Given the description of an element on the screen output the (x, y) to click on. 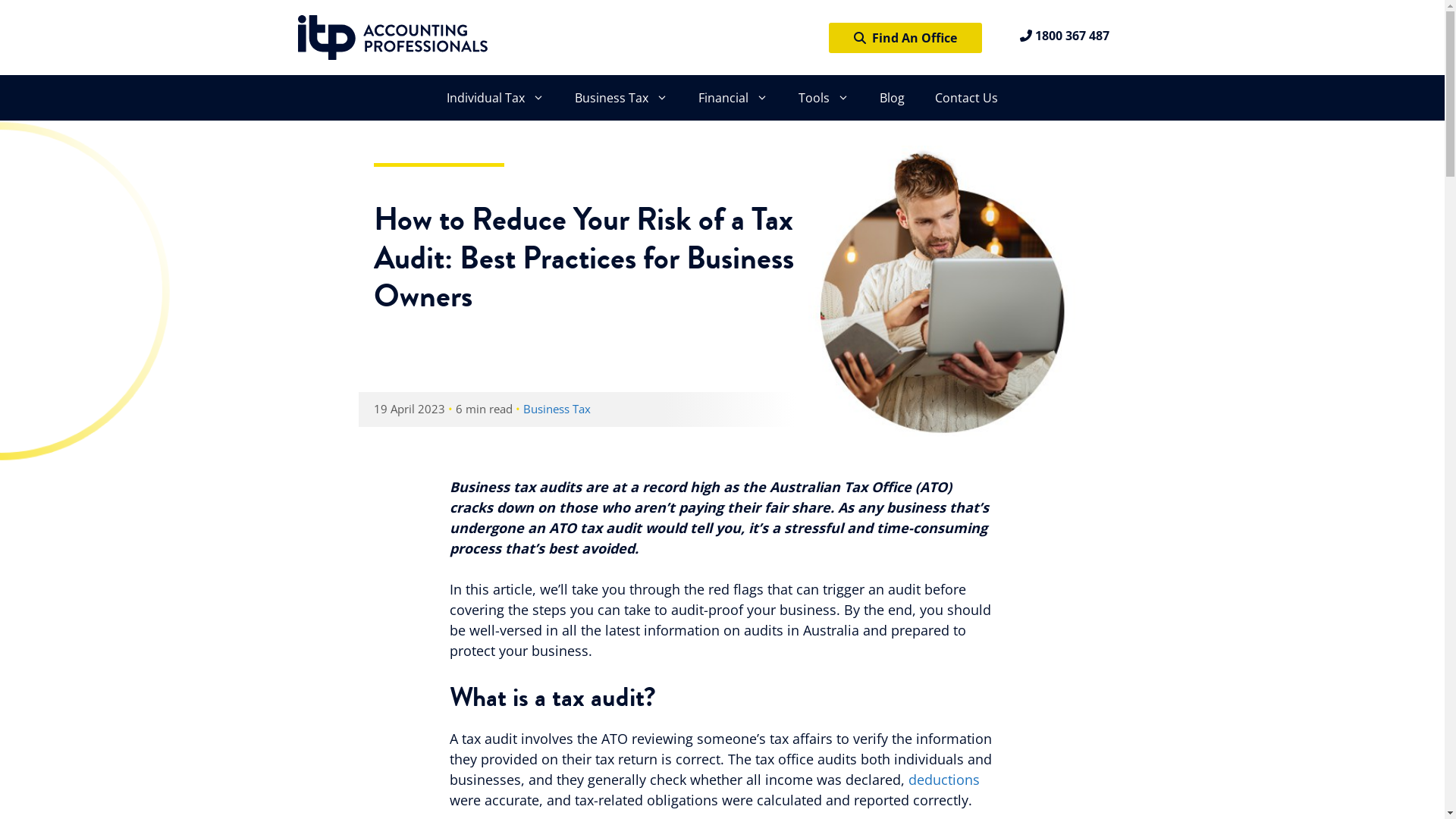
Contact Us Element type: text (966, 97)
 Find An Office Element type: text (905, 37)
Blog Element type: text (891, 97)
deductions Element type: text (943, 779)
Financial Element type: text (733, 97)
Individual Tax Element type: text (495, 97)
Business Tax Element type: text (621, 97)
Tools Element type: text (823, 97)
Business Tax Element type: text (556, 408)
1800 367 487 Element type: text (1063, 35)
